Given the description of an element on the screen output the (x, y) to click on. 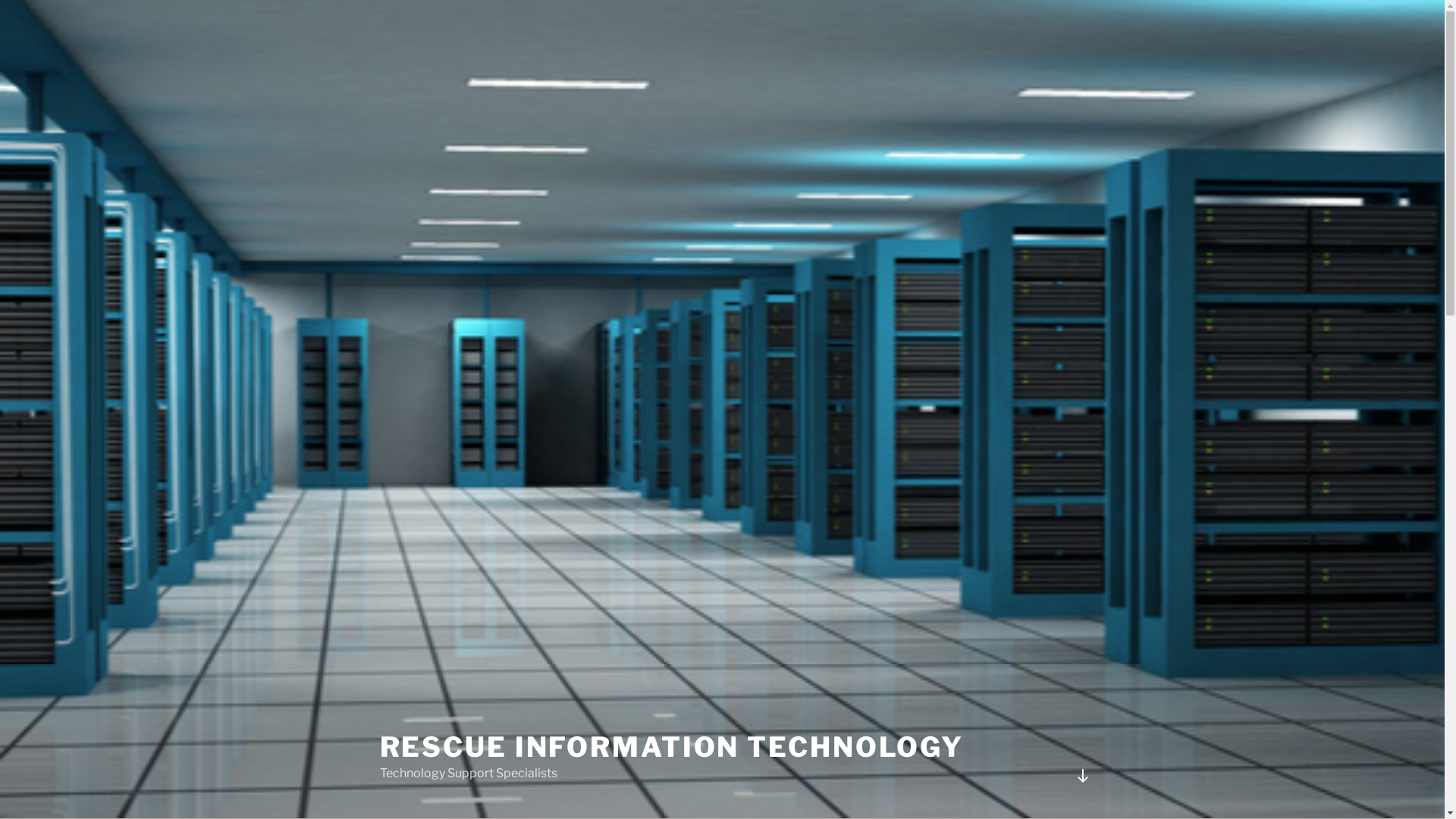
RESCUE INFORMATION TECHNOLOGY Element type: text (671, 746)
Scroll down to content Element type: text (1082, 775)
